Given the description of an element on the screen output the (x, y) to click on. 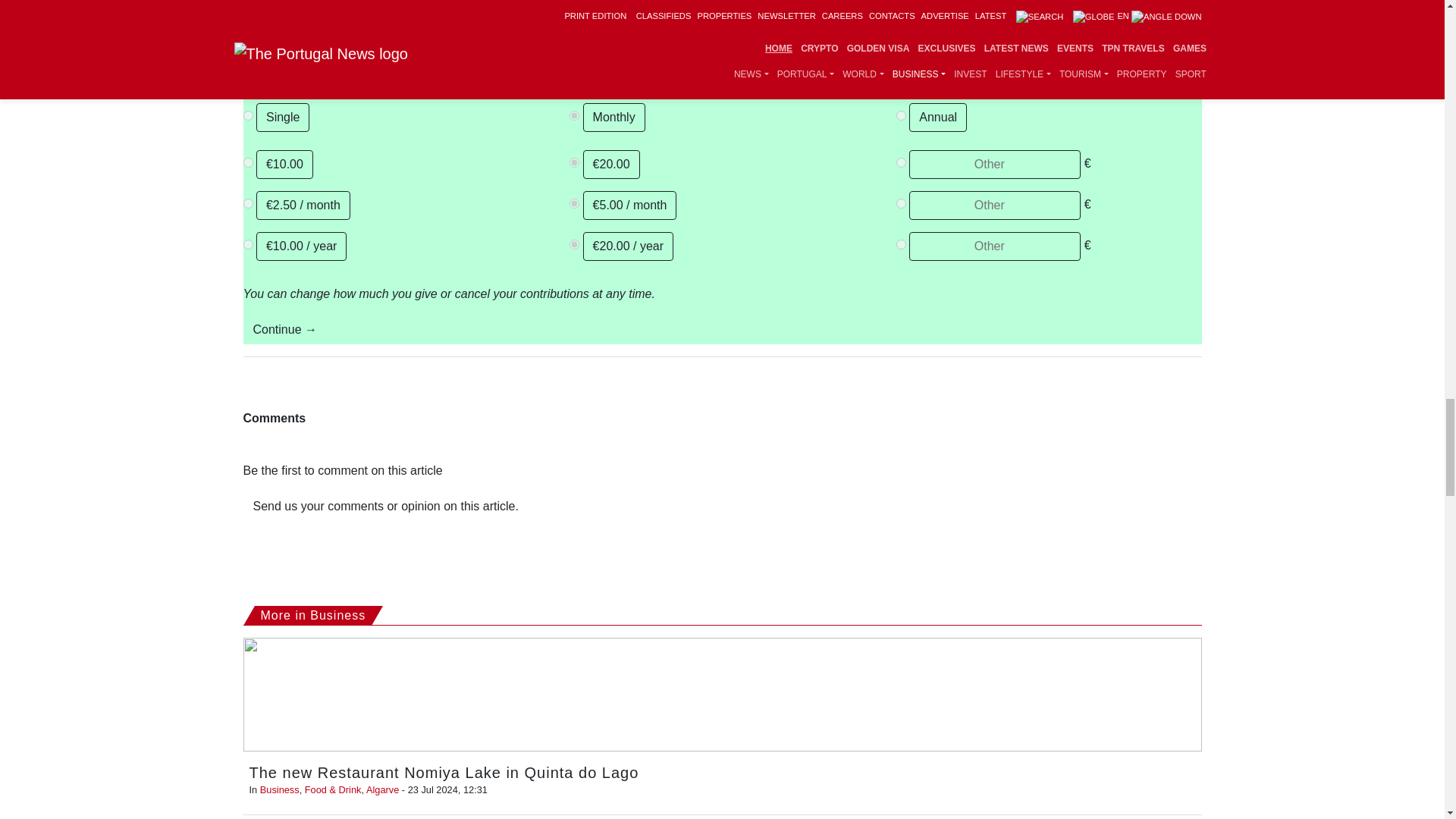
10 (247, 244)
20 (574, 162)
P-18662245734186221MGVD6SI (900, 115)
2.5 (247, 203)
10 (247, 162)
P-6T2758016F920900CMGGQYMQ (574, 115)
20 (574, 244)
single (247, 115)
5 (574, 203)
